Given the description of an element on the screen output the (x, y) to click on. 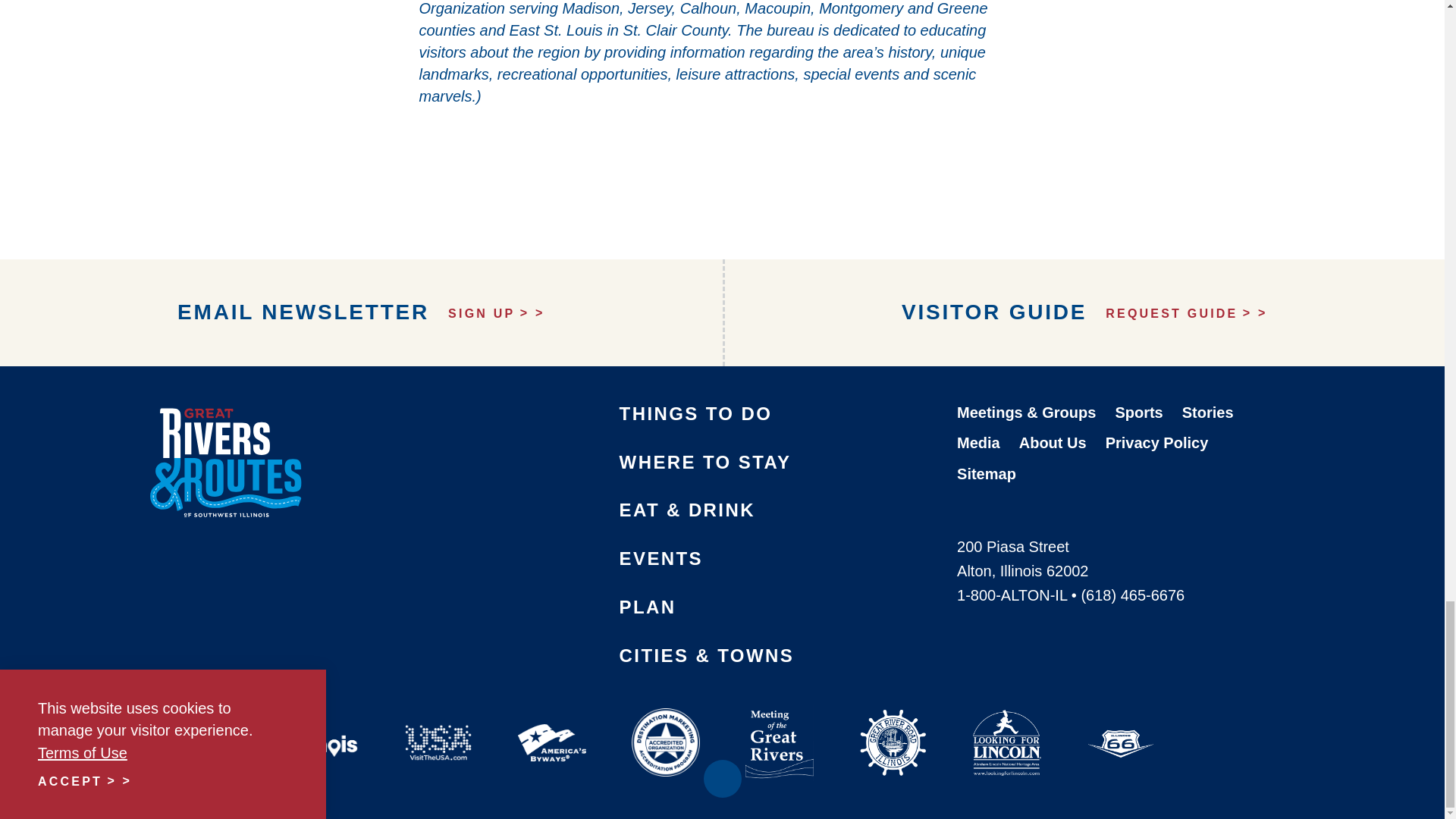
THINGS TO DO (696, 413)
DI Accredited! (665, 723)
SIGN UP (496, 313)
Enjoy Illinois! (323, 724)
REQUEST GUIDE (1185, 313)
Looking for Lincoln! (1005, 723)
Visit The USA! (437, 724)
Meeting of the Great Rivers National Scenic Byway! (778, 724)
America's Byways! (551, 723)
WHERE TO STAY (706, 462)
Illinois Great River Road! (892, 723)
Illinois Route 66! (1119, 723)
